Given the description of an element on the screen output the (x, y) to click on. 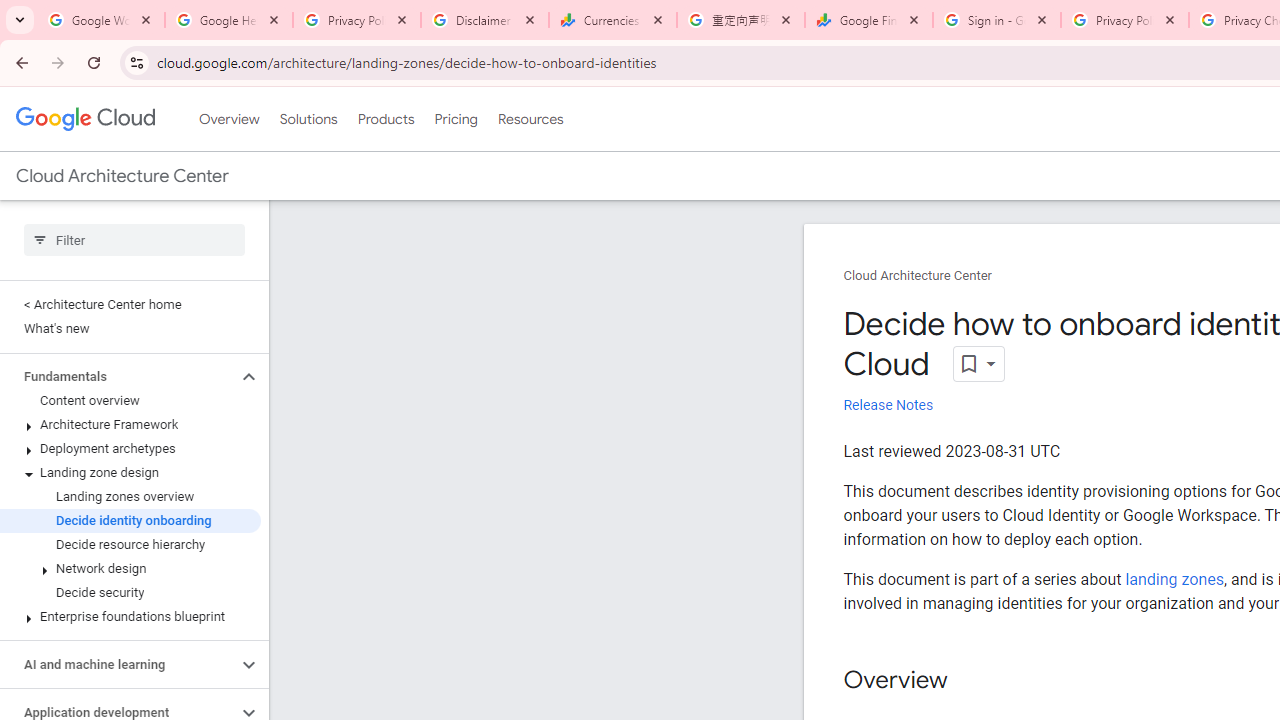
Type to filter (134, 239)
Open dropdown (978, 364)
landing zones (1174, 579)
Release Notes (888, 406)
Content overview (130, 400)
Decide resource hierarchy (130, 544)
Deployment archetypes (130, 448)
